Given the description of an element on the screen output the (x, y) to click on. 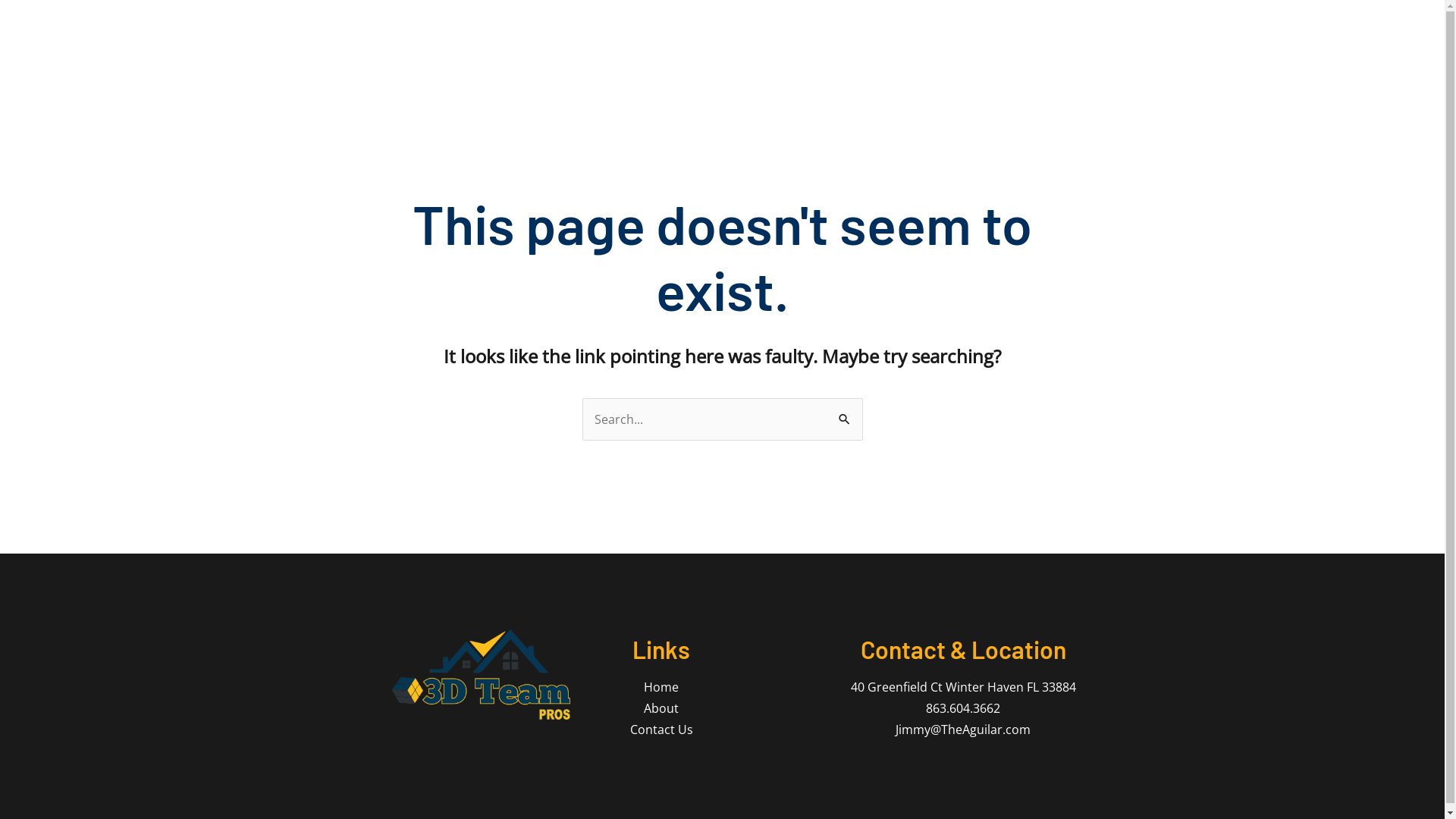
Home Element type: text (660, 686)
Contact Us Element type: text (660, 729)
Jimmy@TheAguilar.com Element type: text (962, 729)
About Element type: text (660, 707)
40 Greenfield Ct Winter Haven FL 33884 Element type: text (962, 686)
863.604.3662 Element type: text (962, 707)
Search Element type: text (845, 413)
